Given the description of an element on the screen output the (x, y) to click on. 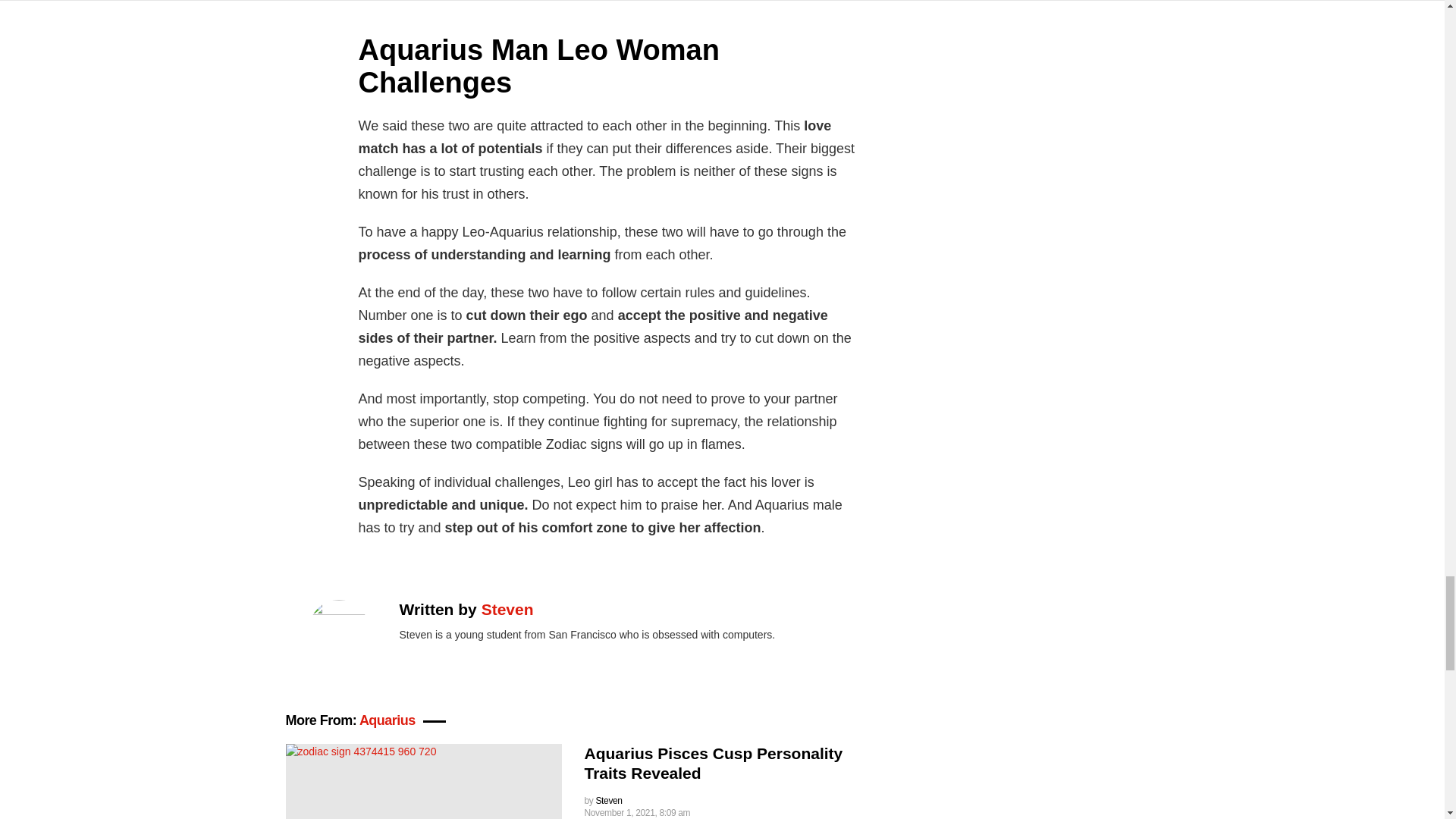
Aquarius (386, 720)
Aquarius Pisces Cusp Personality Traits Revealed (422, 781)
Steven (608, 800)
Steven (507, 609)
Aquarius Pisces Cusp Personality Traits Revealed (713, 762)
